Given the description of an element on the screen output the (x, y) to click on. 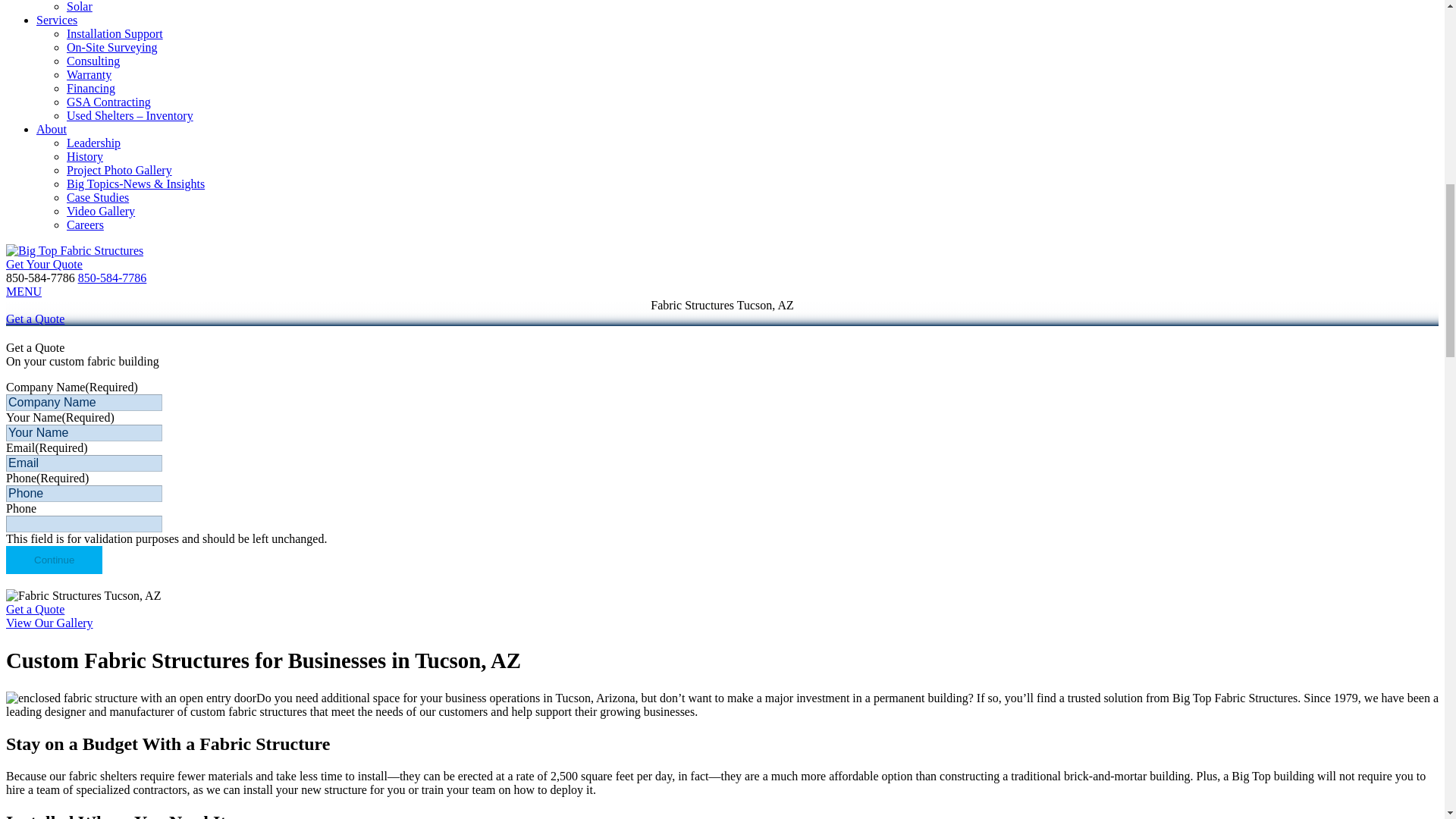
Call Big Top (112, 277)
Continue (53, 560)
Fabric Structures Tucson AZ  (130, 698)
Get Your Quote (43, 264)
